Given the description of an element on the screen output the (x, y) to click on. 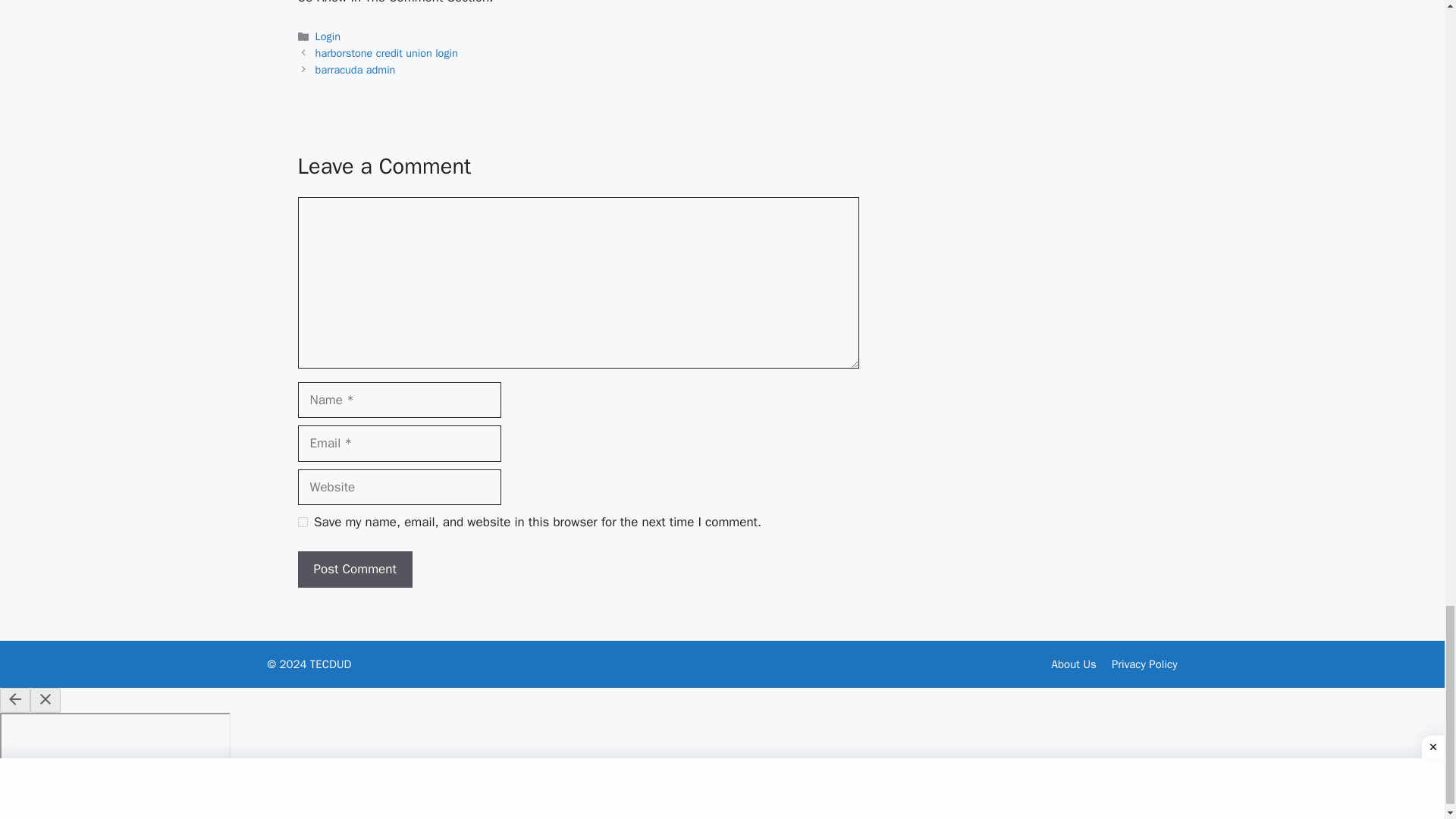
barracuda admin (355, 69)
Privacy Policy (1144, 663)
About Us (1073, 663)
Post Comment (354, 569)
harborstone credit union login (386, 52)
yes (302, 521)
Login (327, 36)
Post Comment (354, 569)
